Given the description of an element on the screen output the (x, y) to click on. 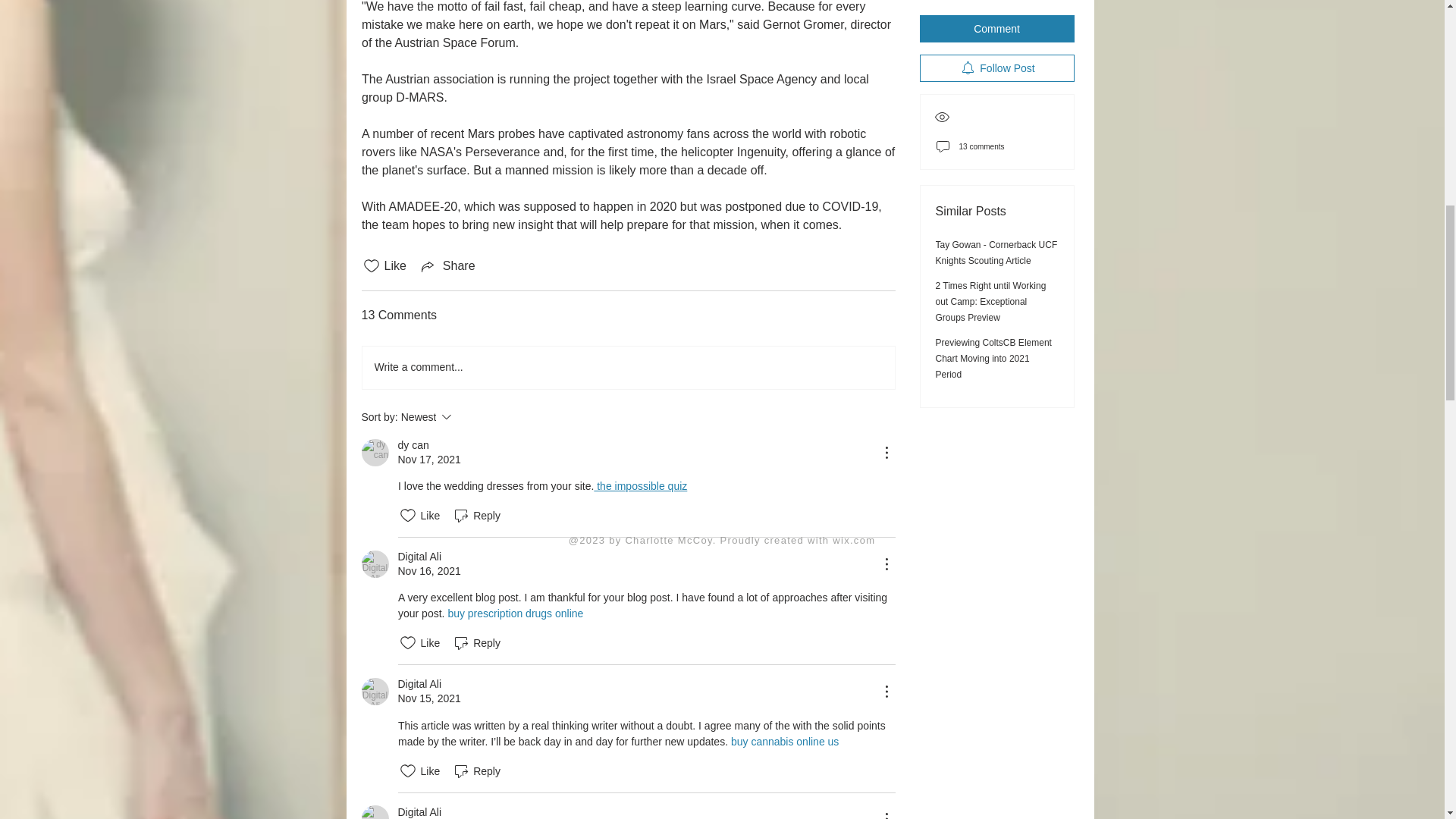
Digital Ali (419, 556)
Digital Ali (374, 564)
Digital Ali (374, 691)
Write a comment... (628, 367)
buy prescription drugs online (514, 613)
dy can (374, 452)
Digital Ali (374, 812)
Share (447, 266)
Reply (475, 642)
 the impossible quiz (640, 485)
